Given the description of an element on the screen output the (x, y) to click on. 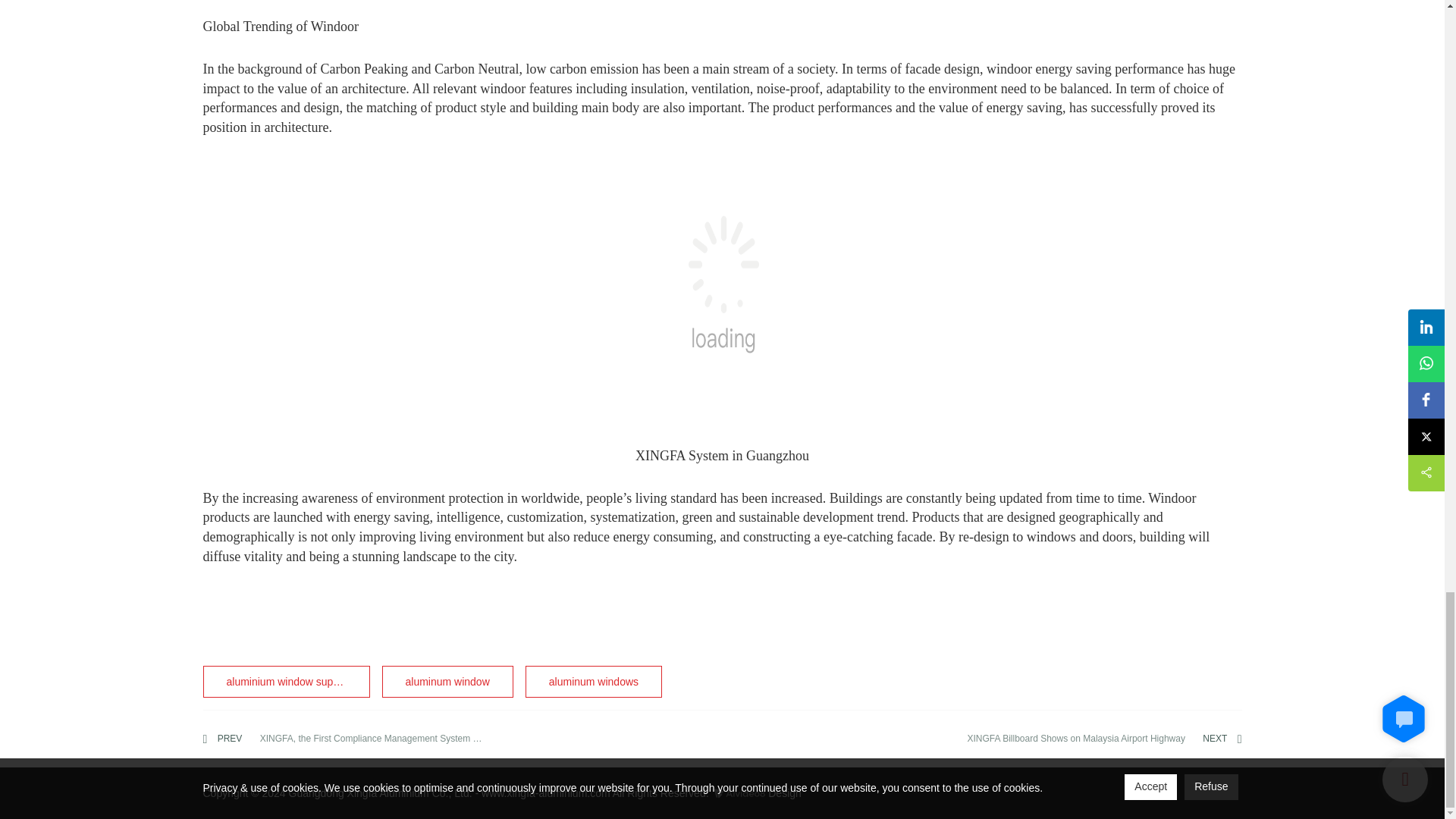
XINGFA Billboard Shows on Malaysia Airport Highway (1099, 738)
